Given the description of an element on the screen output the (x, y) to click on. 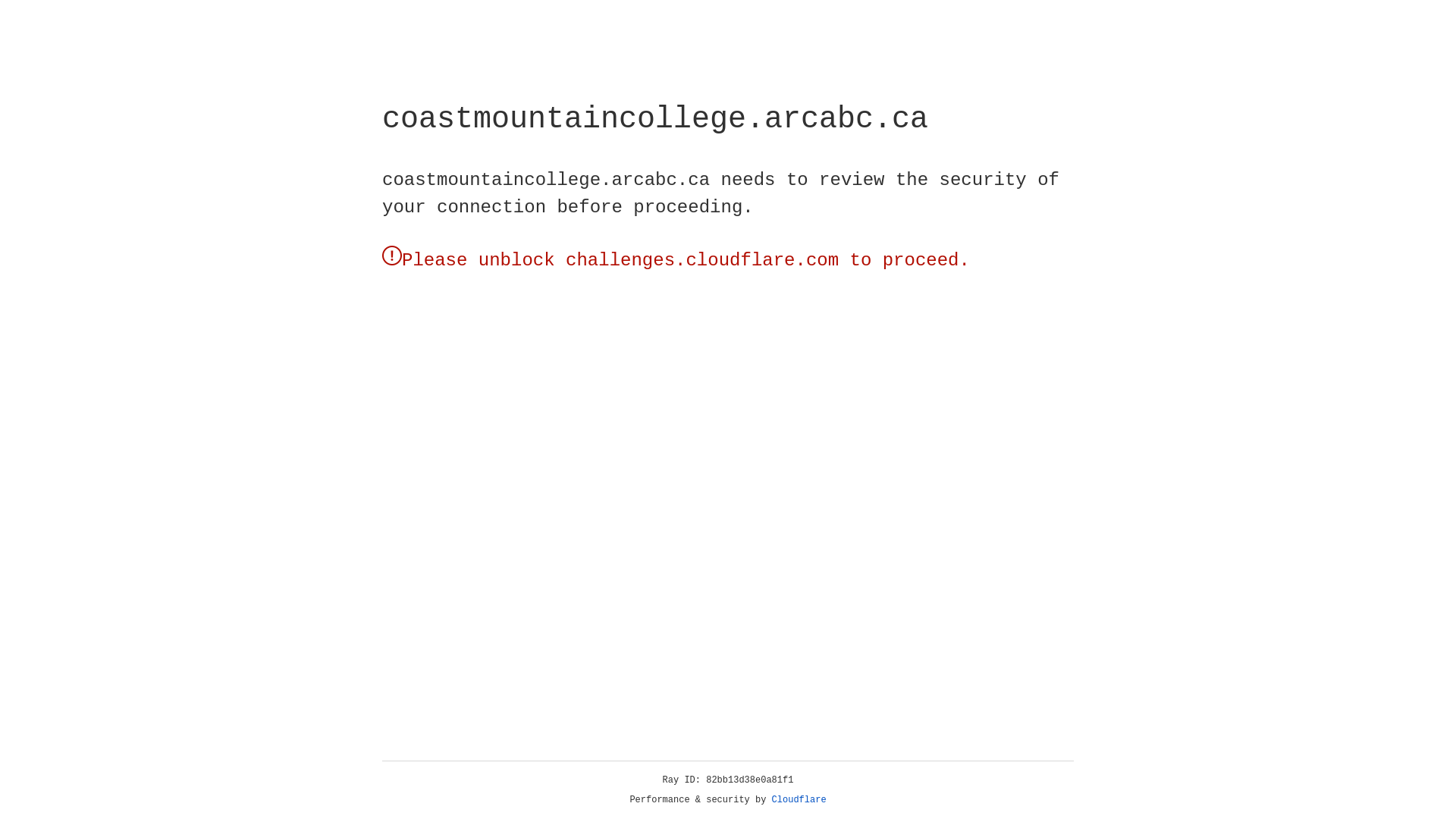
Cloudflare Element type: text (798, 799)
